Given the description of an element on the screen output the (x, y) to click on. 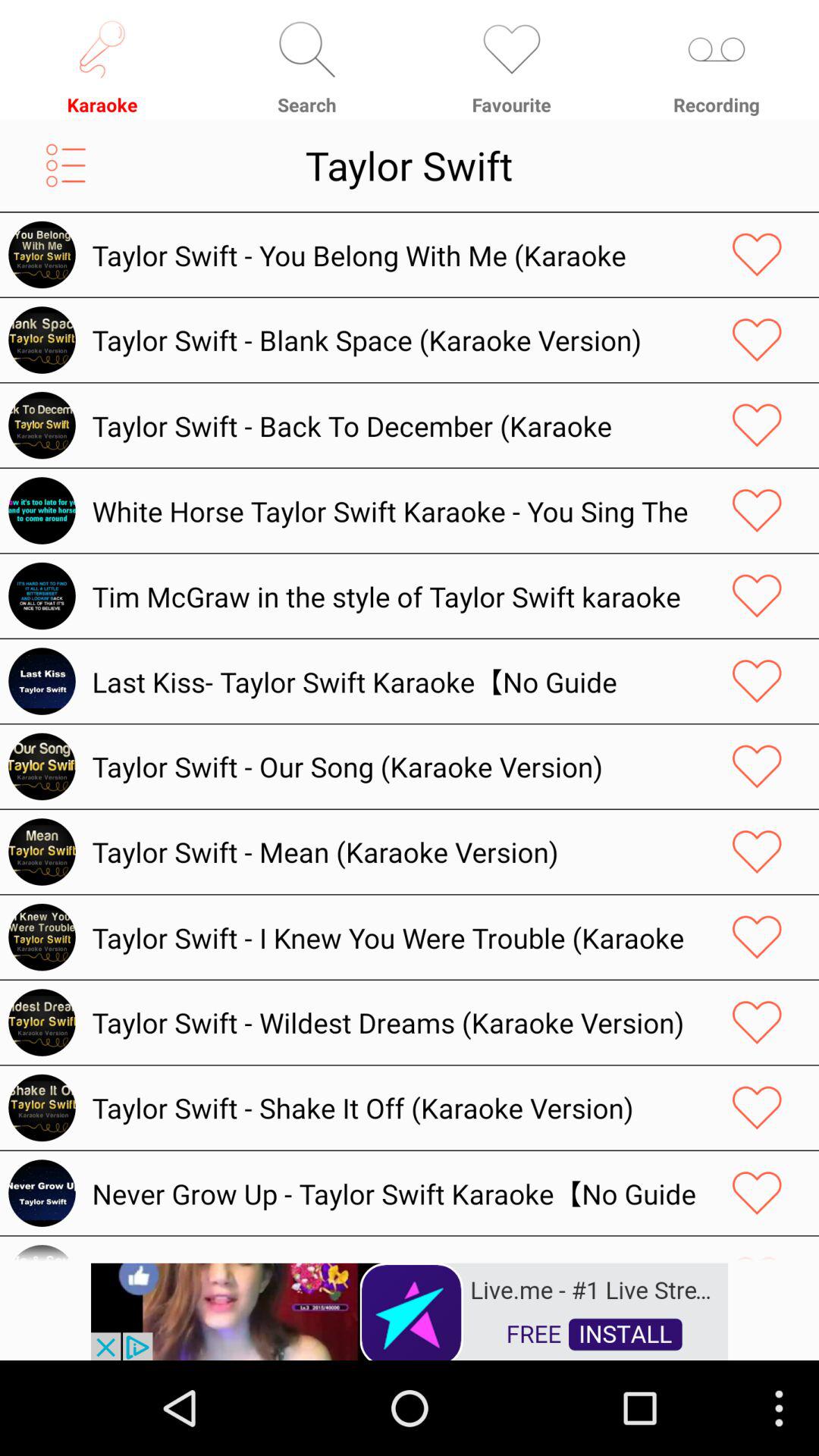
like (756, 510)
